Given the description of an element on the screen output the (x, y) to click on. 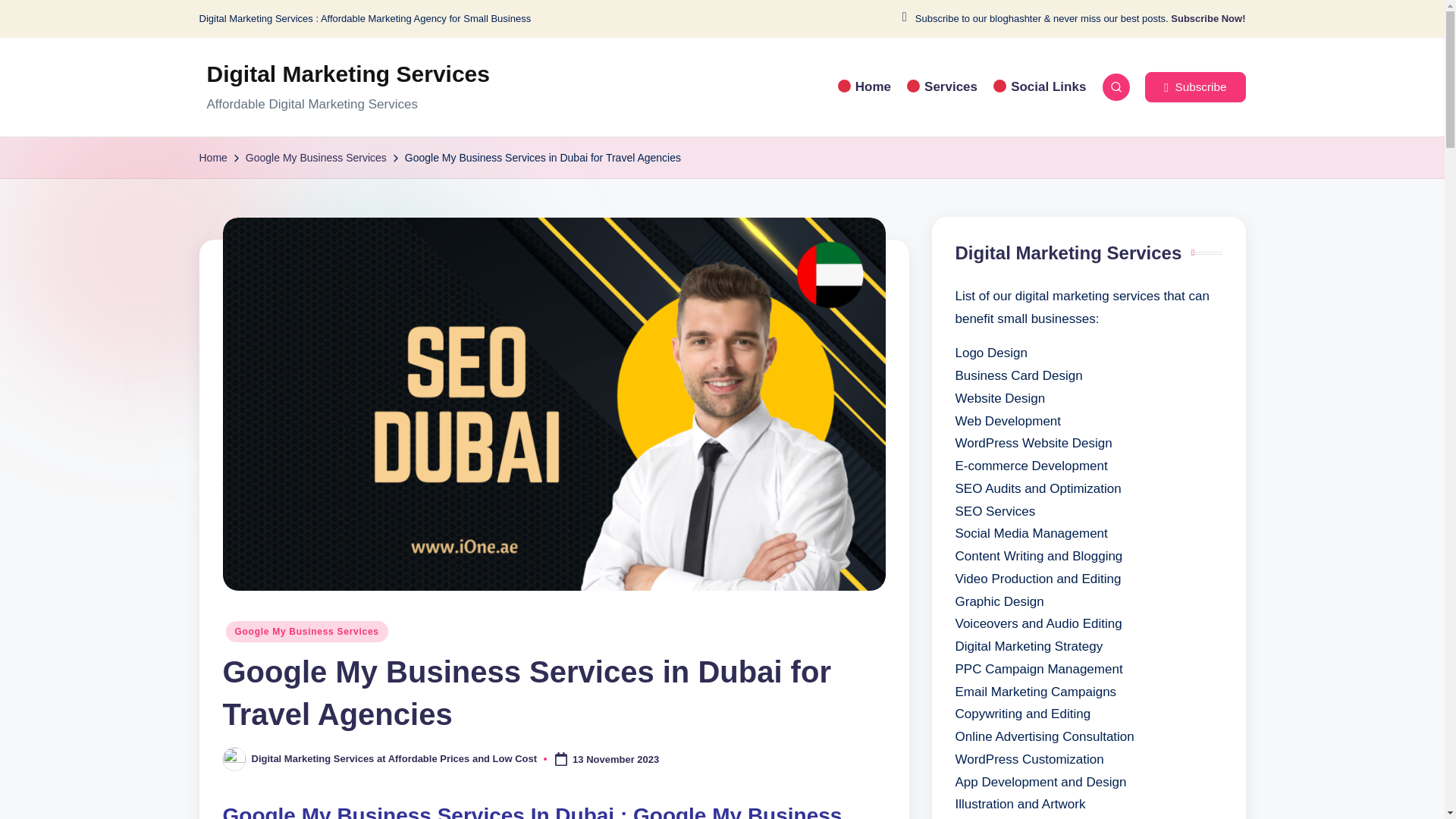
Social Links (1039, 87)
Google My Business Services (306, 631)
Services (940, 87)
Digital Marketing Services (347, 74)
Digital Marketing Services at Affordable Prices and Low Cost (394, 758)
Subscribe (1194, 87)
Google My Business Services (316, 157)
Subscribe Now! (1207, 18)
Home (864, 87)
Home (212, 157)
